Given the description of an element on the screen output the (x, y) to click on. 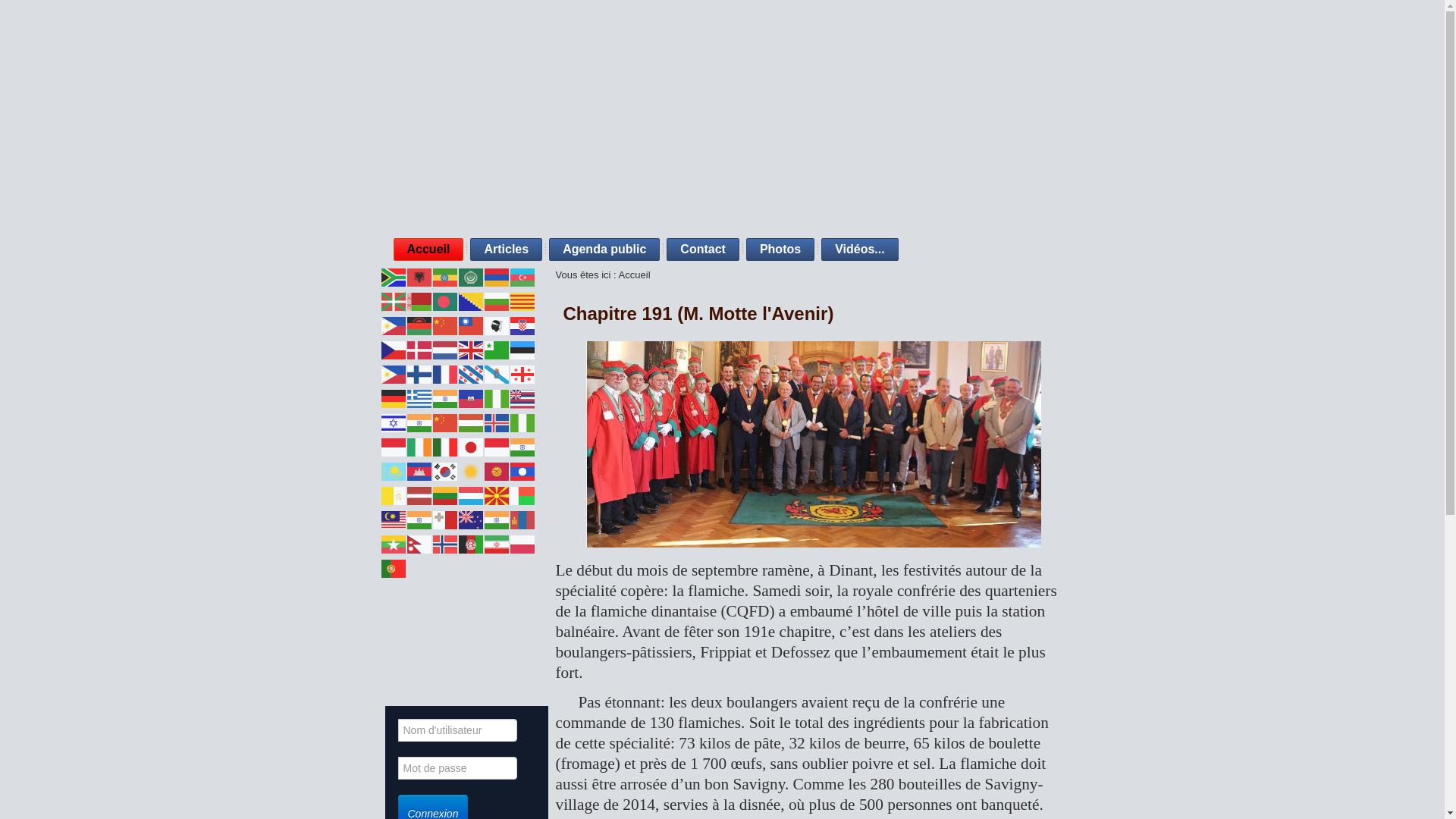
Punjabi Element type: hover (419, 567)
Belarusian Element type: hover (419, 300)
Latin Element type: hover (393, 494)
Catalan Element type: hover (522, 300)
Hawaiian Element type: hover (522, 397)
Esperanto Element type: hover (496, 348)
Croatian Element type: hover (522, 324)
Japanese Element type: hover (470, 445)
Malagasy Element type: hover (522, 494)
Maltese Element type: hover (445, 518)
Russian Element type: hover (470, 567)
Dutch Element type: hover (445, 348)
Sundanese Element type: hover (470, 615)
Uzbek Element type: hover (419, 664)
Icelandic Element type: hover (496, 421)
Urdu Element type: hover (393, 664)
Marathi Element type: hover (496, 518)
Chapitre 191 (M. Motte l'Avenir) Element type: text (697, 313)
Korean Element type: hover (445, 470)
password Element type: hover (456, 767)
Frisian Element type: hover (470, 373)
Vietnamese Element type: hover (445, 664)
Haitian Creole Element type: hover (470, 397)
Finnish Element type: hover (419, 373)
Malay Element type: hover (393, 518)
Italian Element type: hover (445, 445)
Telugu Element type: hover (445, 640)
Irish Element type: hover (419, 445)
Sindhi Element type: hover (470, 591)
Slovenian Element type: hover (393, 615)
Chinese (Traditional) Element type: hover (470, 324)
Igbo Element type: hover (522, 421)
Tamil Element type: hover (419, 640)
Kazakh Element type: hover (393, 470)
Armenian Element type: hover (496, 276)
Thai Element type: hover (470, 640)
Basque Element type: hover (393, 300)
Yiddish Element type: hover (522, 664)
Malayalam Element type: hover (419, 518)
Accueil Element type: text (427, 249)
Kyrgyz Element type: hover (496, 470)
Welsh Element type: hover (470, 664)
Macedonian Element type: hover (496, 494)
Bulgarian Element type: hover (496, 300)
Czech Element type: hover (393, 348)
Swahili Element type: hover (496, 615)
Pashto Element type: hover (470, 543)
Chichewa Element type: hover (419, 324)
Photos Element type: text (780, 249)
Galician Element type: hover (496, 373)
Luxembourgish Element type: hover (470, 494)
Corsican Element type: hover (496, 324)
Sesotho Element type: hover (419, 591)
Shona Element type: hover (445, 591)
Hmong Element type: hover (445, 421)
Nepali Element type: hover (419, 543)
Albanian Element type: hover (419, 276)
Mongolian Element type: hover (522, 518)
Estonian Element type: hover (522, 348)
Articles Element type: text (506, 249)
Hausa Element type: hover (496, 397)
Lao Element type: hover (522, 470)
French Element type: hover (445, 373)
Contact Element type: text (702, 249)
Hindi Element type: hover (419, 421)
Agenda public Element type: text (604, 249)
Persian Element type: hover (496, 543)
Samoan Element type: hover (496, 567)
English Element type: hover (470, 348)
Slovak Element type: hover (522, 591)
username Element type: hover (456, 729)
Latvian Element type: hover (419, 494)
Gujarati Element type: hover (445, 397)
Javanese Element type: hover (496, 445)
Hebrew Element type: hover (393, 421)
Norwegian Element type: hover (445, 543)
Kannada Element type: hover (522, 445)
Khmer Element type: hover (419, 470)
Arabic Element type: hover (470, 276)
Romanian Element type: hover (445, 567)
Amharic Element type: hover (445, 276)
Kurdish (Kurmanji) Element type: hover (470, 470)
Portuguese Element type: hover (393, 567)
Polish Element type: hover (522, 543)
Zulu Element type: hover (419, 688)
Turkish Element type: hover (496, 640)
Ukrainian Element type: hover (522, 640)
Azerbaijani Element type: hover (522, 276)
Scottish Gaelic Element type: hover (522, 567)
German Element type: hover (393, 397)
Filipino Element type: hover (393, 373)
Sinhala Element type: hover (496, 591)
Yoruba Element type: hover (393, 688)
Indonesian Element type: hover (393, 445)
Bengali Element type: hover (445, 300)
Bosnian Element type: hover (470, 300)
Lithuanian Element type: hover (445, 494)
Somali Element type: hover (419, 615)
Greek Element type: hover (419, 397)
Swedish Element type: hover (522, 615)
Chinese (Simplified) Element type: hover (445, 324)
Hungarian Element type: hover (470, 421)
Xhosa Element type: hover (496, 664)
Georgian Element type: hover (522, 373)
Maori Element type: hover (470, 518)
Afrikaans Element type: hover (393, 276)
Myanmar (Burmese) Element type: hover (393, 543)
Serbian Element type: hover (393, 591)
Danish Element type: hover (419, 348)
Spanish Element type: hover (445, 615)
Cebuano Element type: hover (393, 324)
Tajik Element type: hover (393, 640)
